Given the description of an element on the screen output the (x, y) to click on. 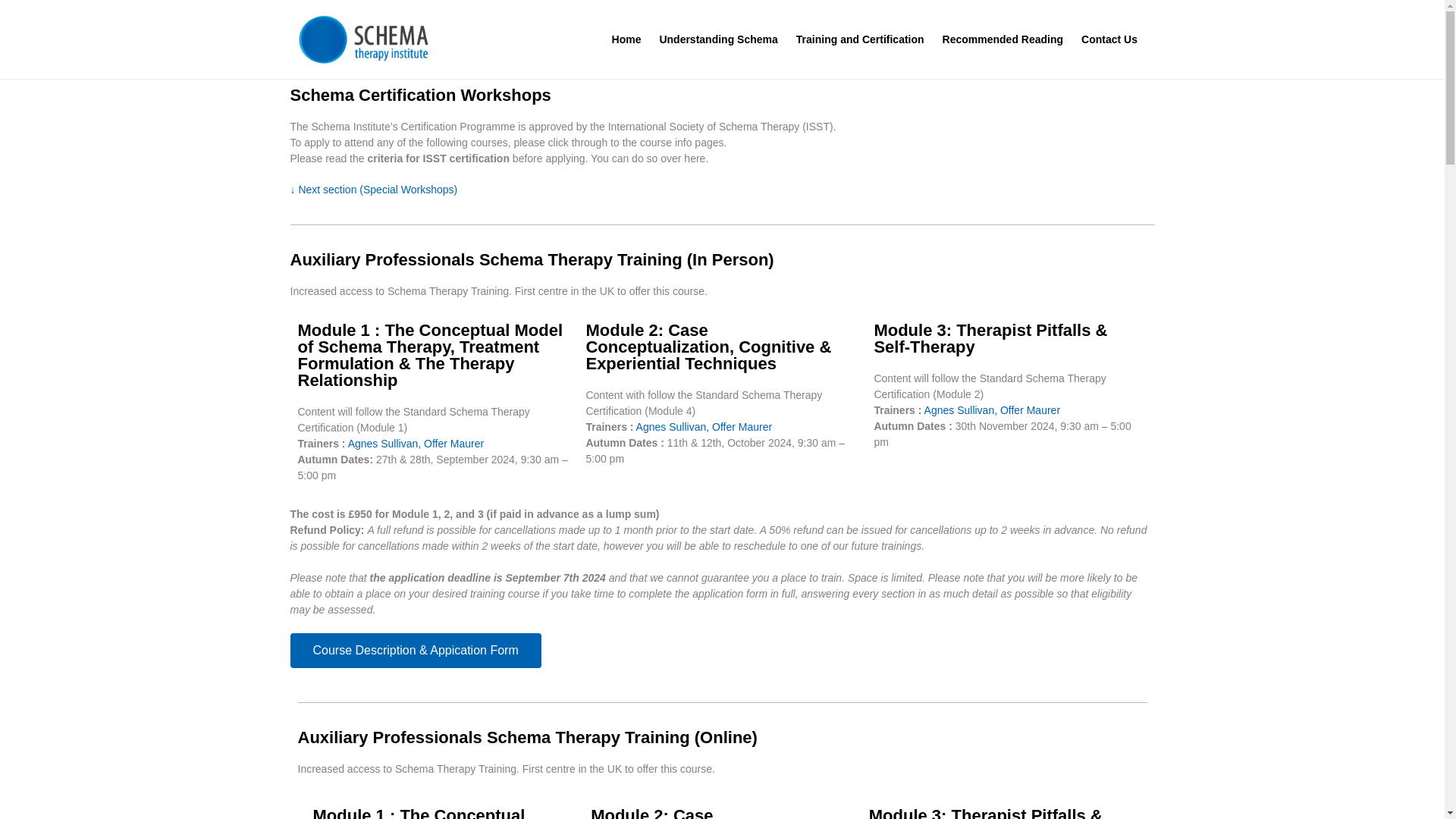
Recommended Reading (1002, 39)
Contact Us (1109, 39)
Home (626, 39)
Understanding Schema (717, 39)
Training and Certification (860, 39)
